Given the description of an element on the screen output the (x, y) to click on. 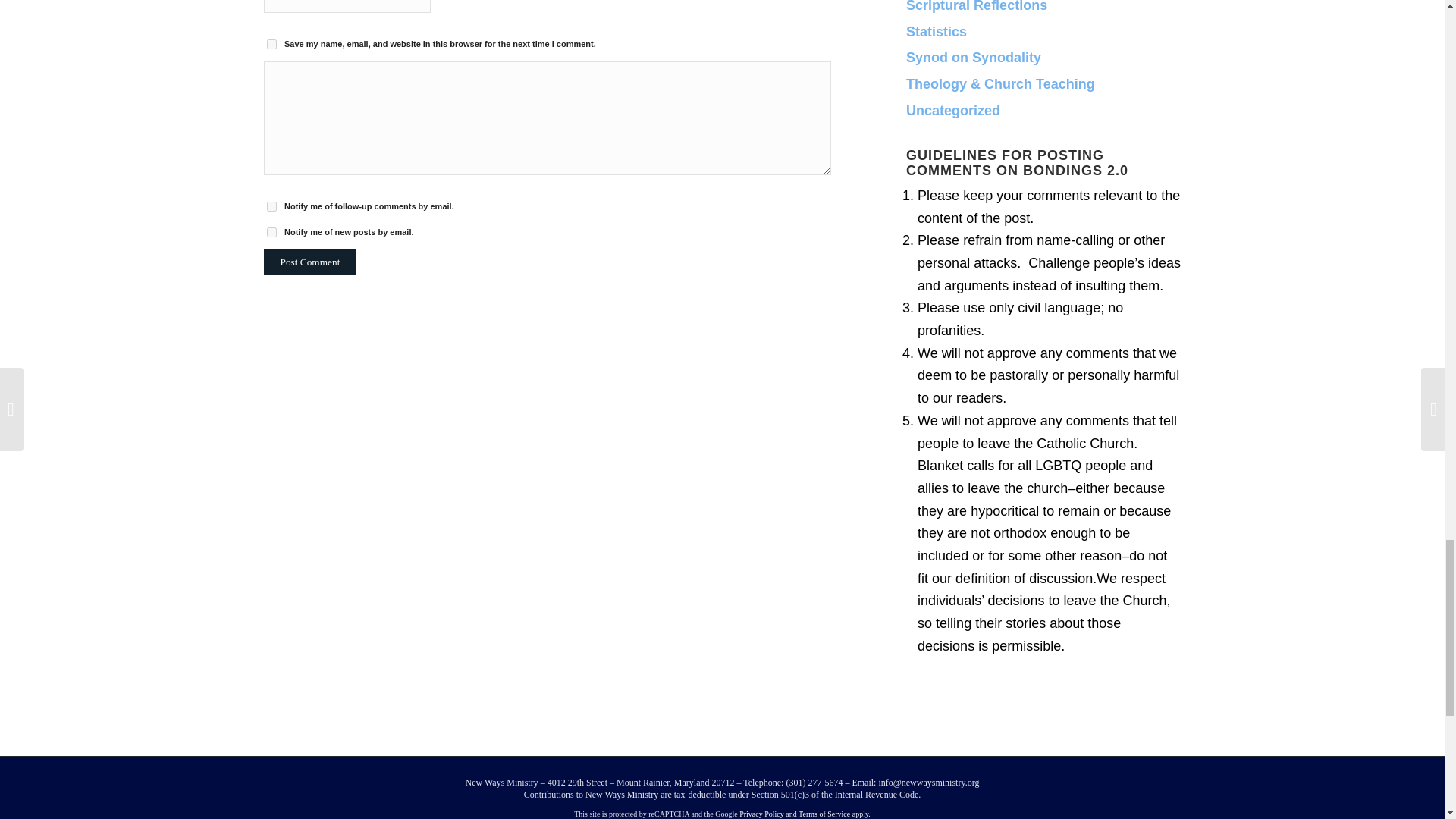
subscribe (271, 232)
yes (271, 44)
subscribe (271, 206)
Post Comment (309, 262)
